Given the description of an element on the screen output the (x, y) to click on. 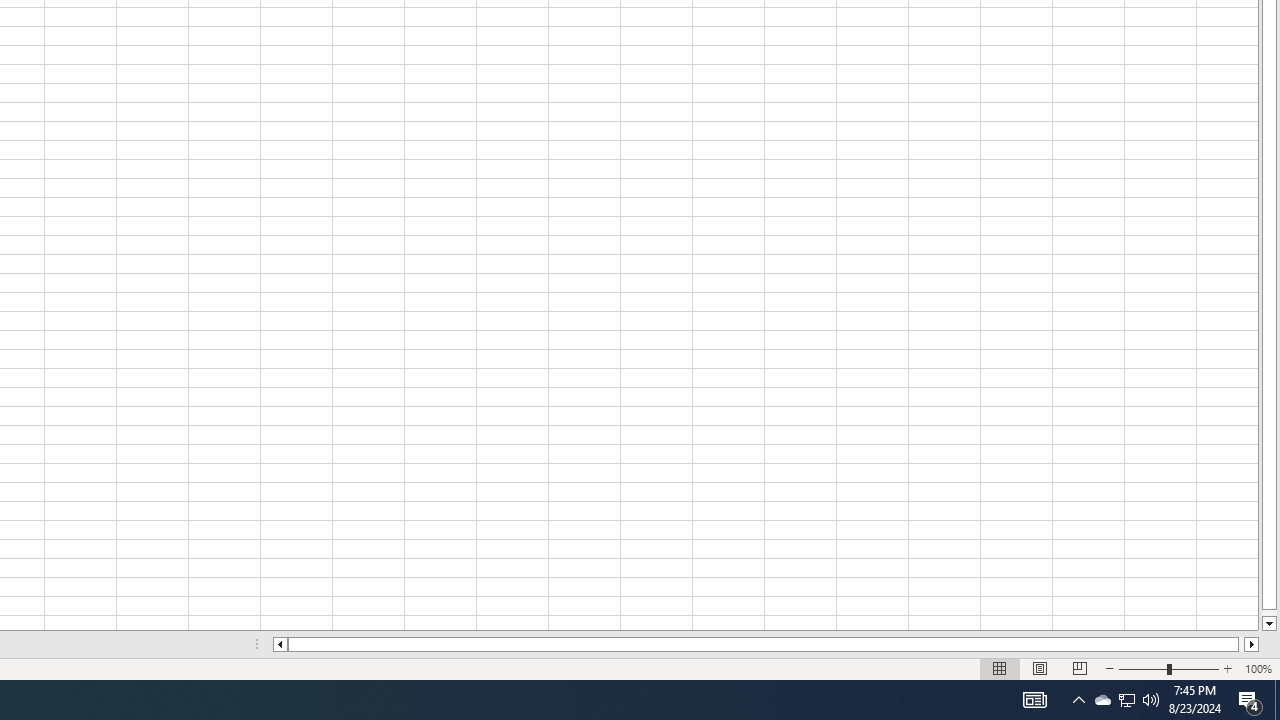
Page right (1241, 644)
Page Layout (1039, 668)
Column left (279, 644)
Column right (1252, 644)
Zoom Out (1142, 668)
Zoom (1168, 668)
Zoom In (1227, 668)
Normal (1000, 668)
Line down (1268, 624)
Page Break Preview (1079, 668)
Page down (1268, 612)
Class: NetUIScrollBar (765, 644)
